Given the description of an element on the screen output the (x, y) to click on. 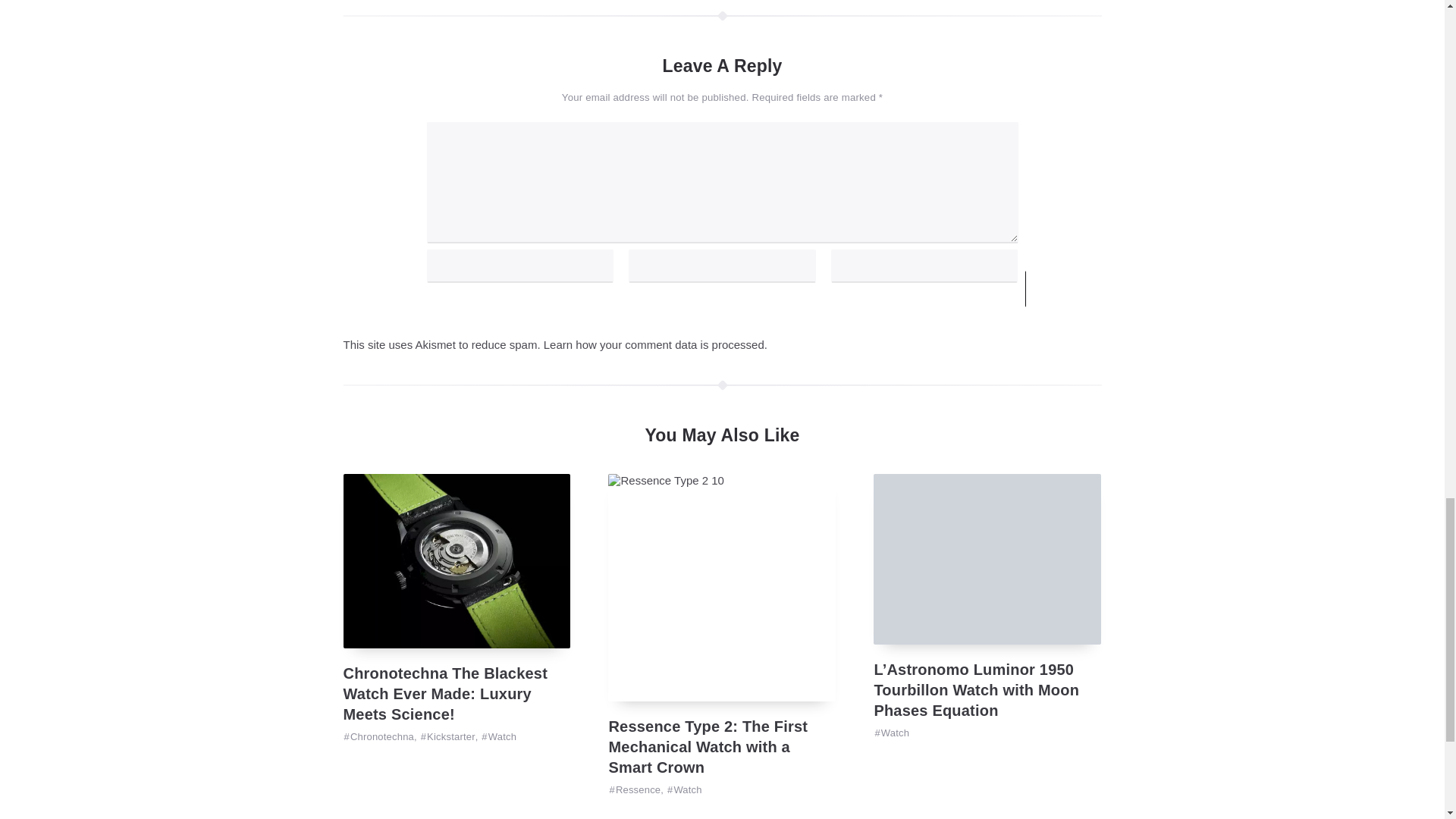
Post comment (1089, 289)
Post comment (1089, 289)
Learn how your comment data is processed (653, 344)
